Given the description of an element on the screen output the (x, y) to click on. 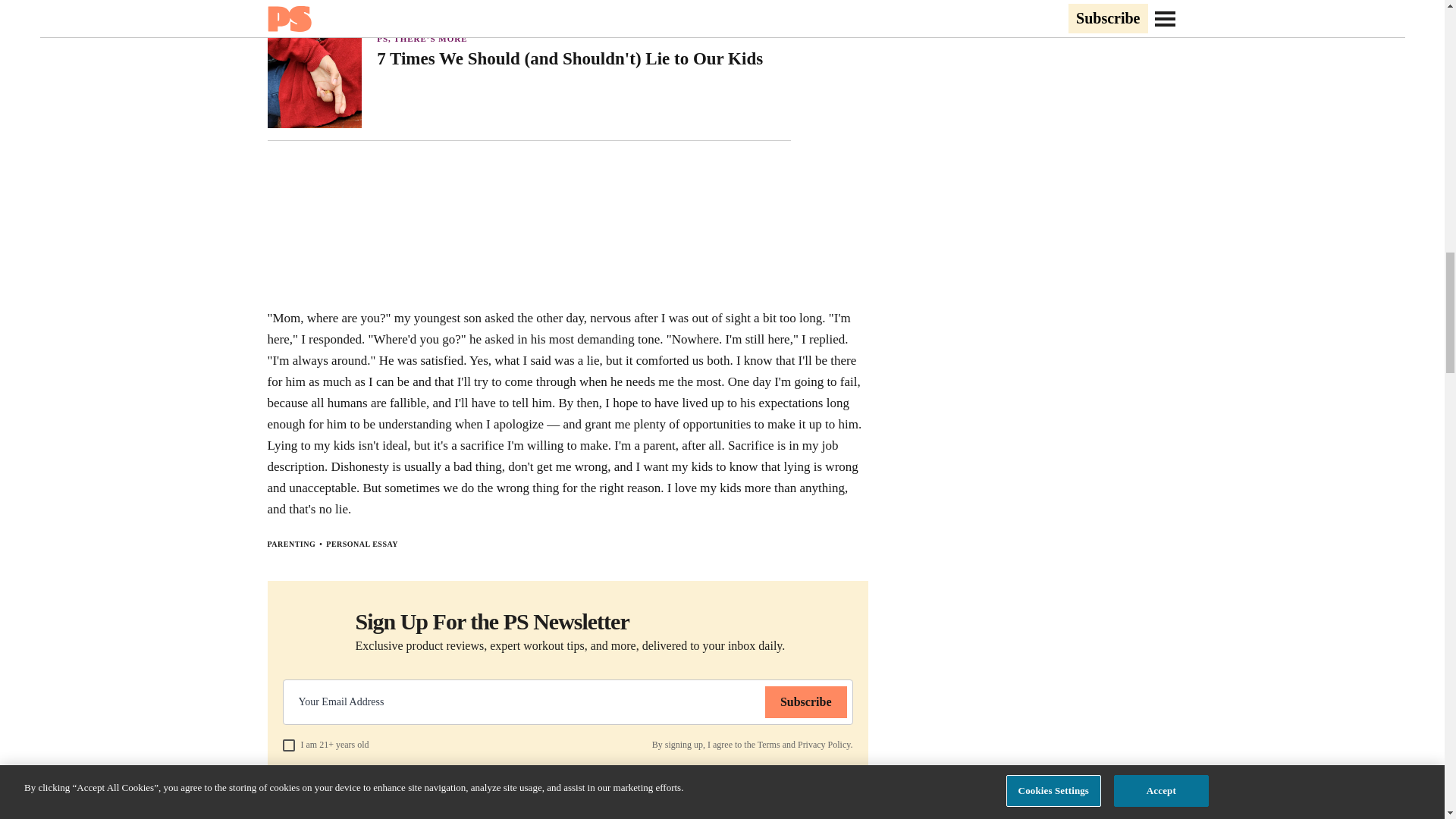
PERSONAL ESSAY (361, 543)
Terms (768, 744)
Privacy Policy. (825, 744)
PARENTING (290, 543)
Subscribe (806, 702)
